Given the description of an element on the screen output the (x, y) to click on. 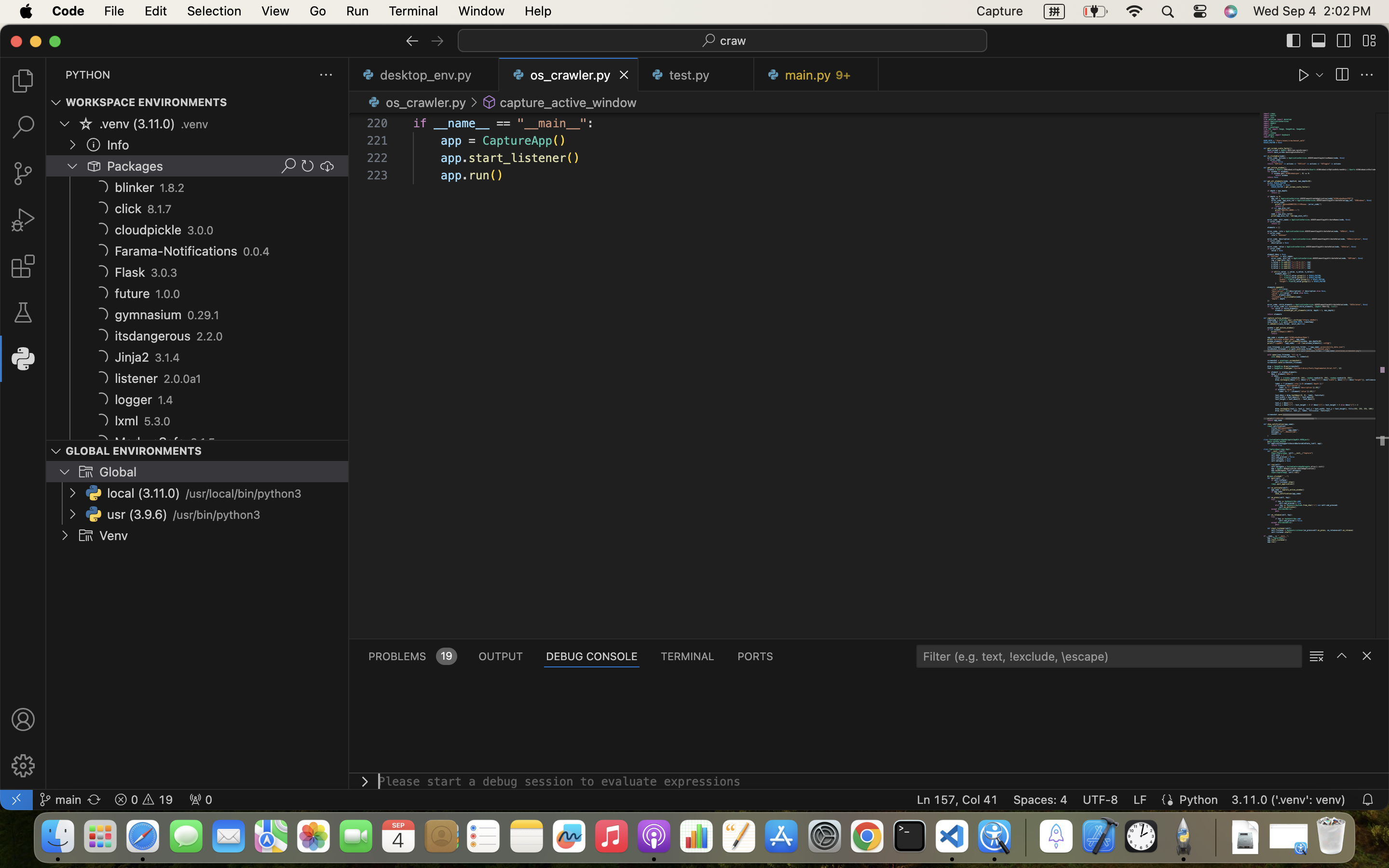
Venv Element type: AXStaticText (113, 535)
0  Element type: AXRadioButton (23, 219)
main  Element type: AXButton (59, 799)
 Element type: AXStaticText (55, 451)
blinker Element type: AXStaticText (134, 187)
